Given the description of an element on the screen output the (x, y) to click on. 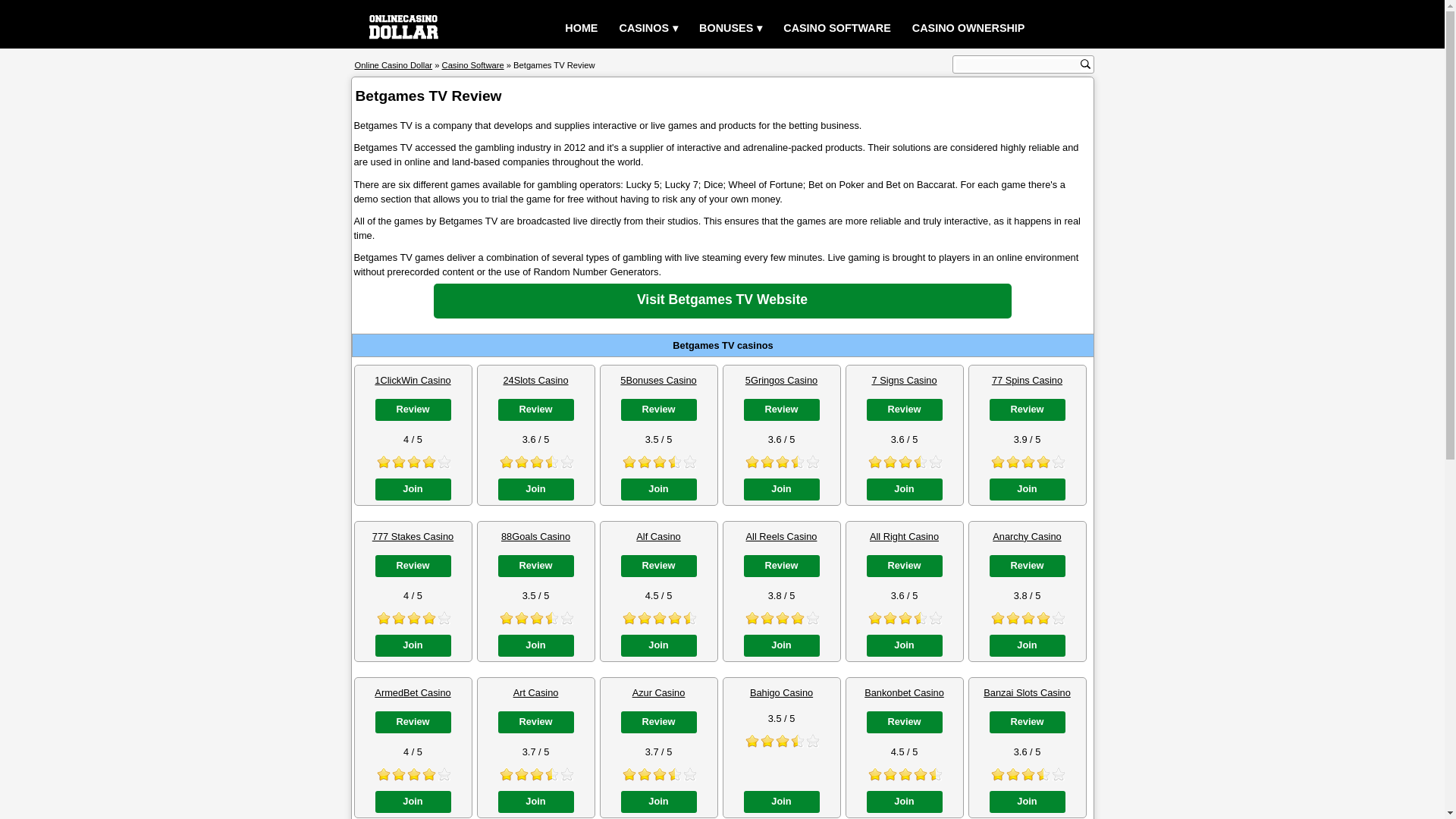
HOME (581, 28)
Join (1026, 489)
5Gringos Casino (780, 379)
Join (780, 489)
Review (780, 409)
Review (411, 409)
Review (1026, 409)
88Goals Casino (535, 536)
Review (904, 409)
CASINO SOFTWARE (837, 28)
BONUSES (730, 28)
7 Signs Casino (903, 379)
Join (657, 489)
Review (535, 566)
Join (535, 489)
